Given the description of an element on the screen output the (x, y) to click on. 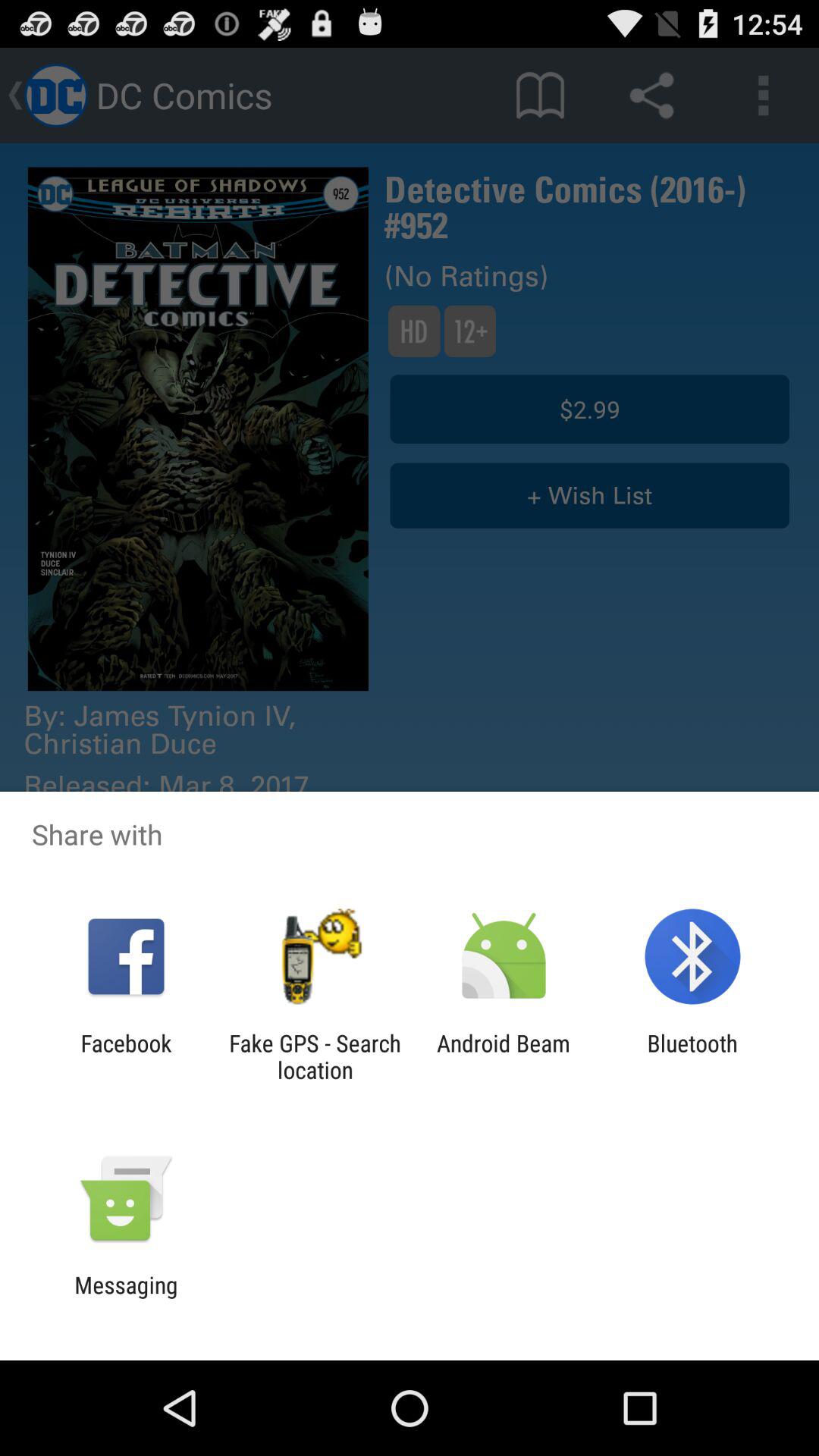
click app next to bluetooth (503, 1056)
